Given the description of an element on the screen output the (x, y) to click on. 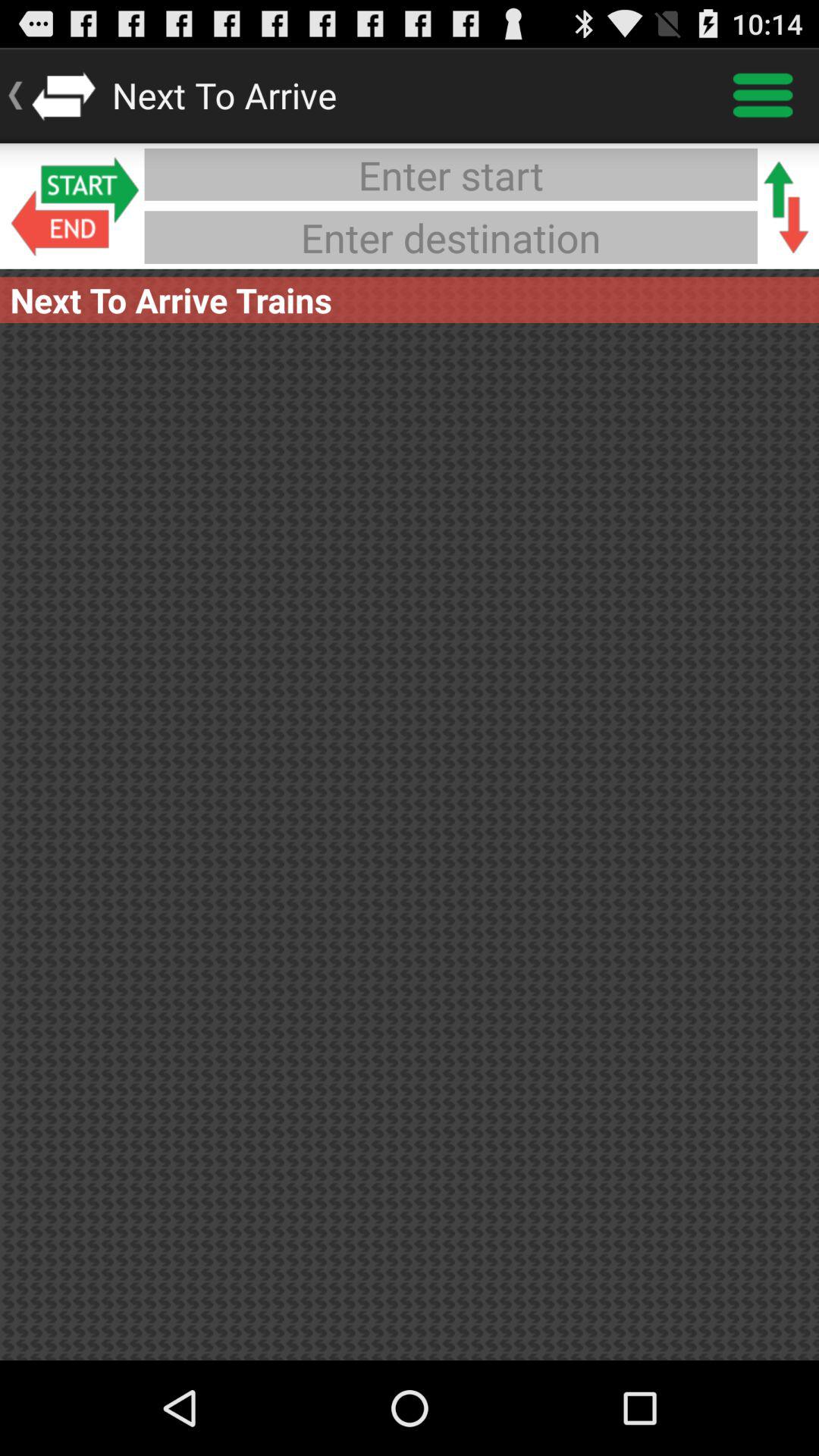
open item to the right of next to arrive icon (763, 95)
